Given the description of an element on the screen output the (x, y) to click on. 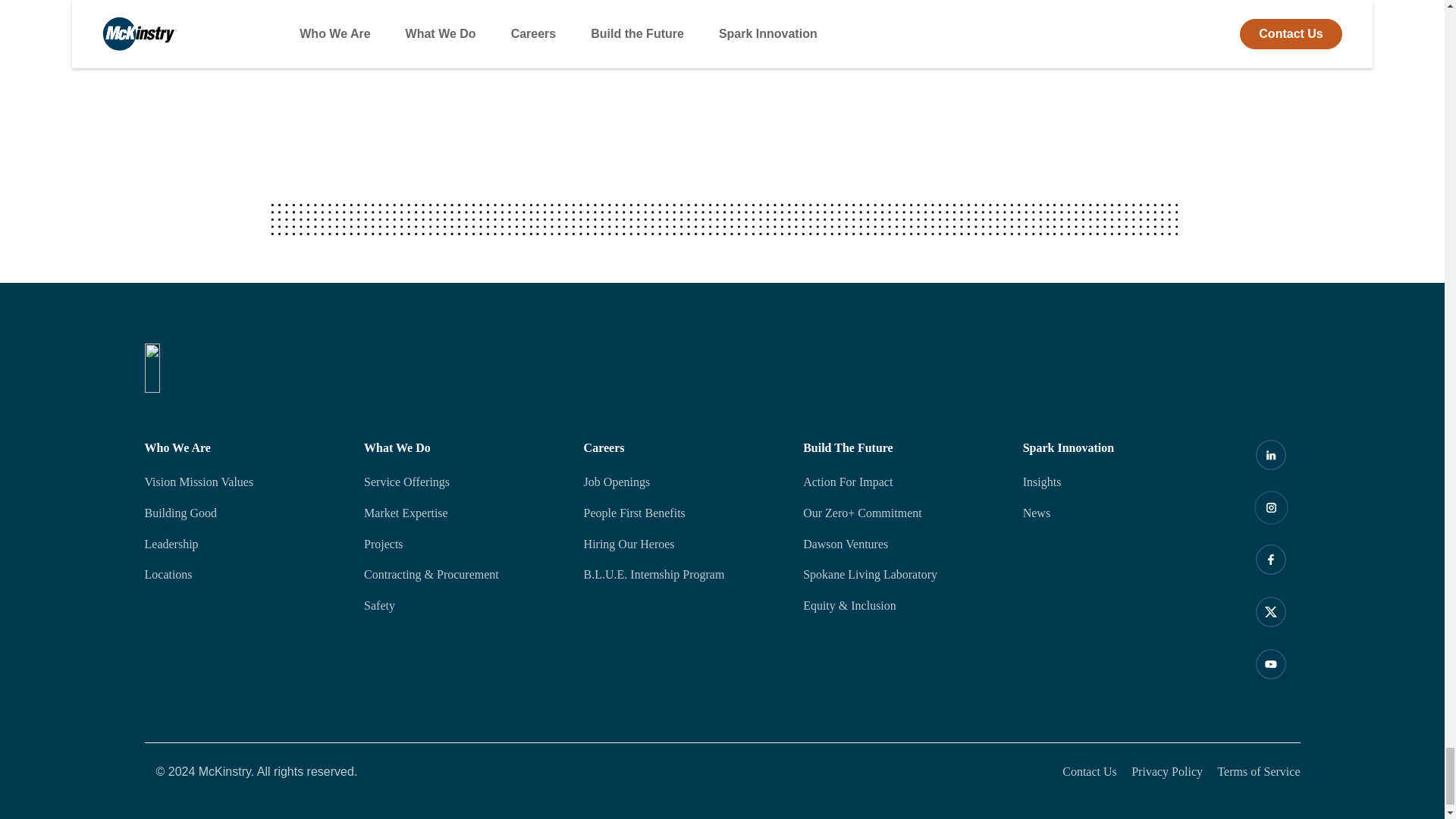
Projects (462, 544)
Vision Mission Values (242, 482)
What We Do (462, 447)
Building Good (242, 513)
Who We Are (242, 447)
Job Openings (681, 482)
Leadership (242, 544)
Who We Are (242, 447)
Market Expertise (462, 513)
Service Offerings (462, 482)
Careers (681, 447)
Locations (242, 574)
Safety (462, 605)
